Given the description of an element on the screen output the (x, y) to click on. 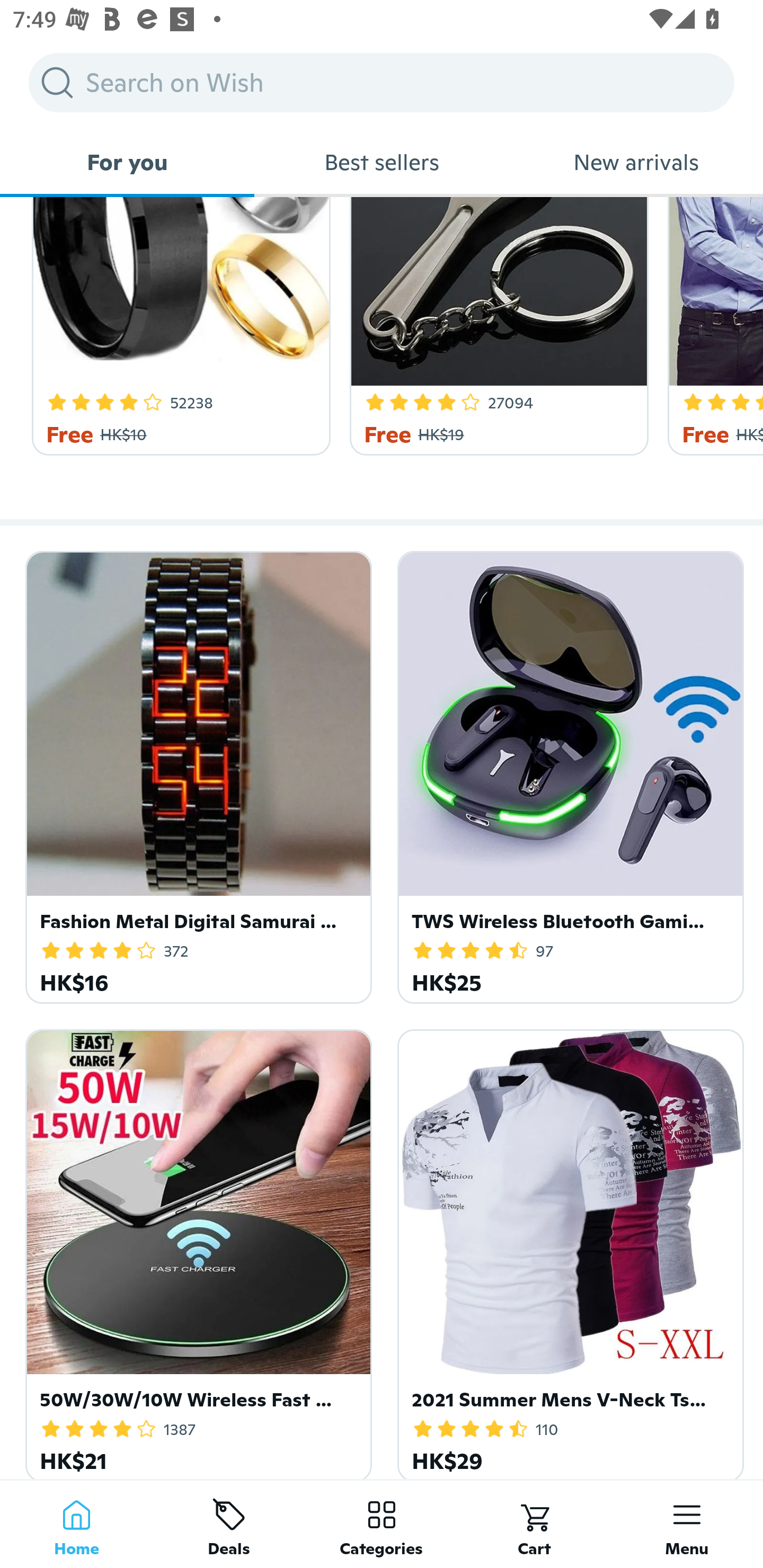
Search on Wish (381, 82)
For you (127, 161)
Best sellers (381, 161)
New arrivals (635, 161)
4.2 Star Rating 52238 Free HK$10 (177, 326)
4 Star Rating 27094 Free HK$19 (495, 326)
Home (76, 1523)
Deals (228, 1523)
Categories (381, 1523)
Cart (533, 1523)
Menu (686, 1523)
